Given the description of an element on the screen output the (x, y) to click on. 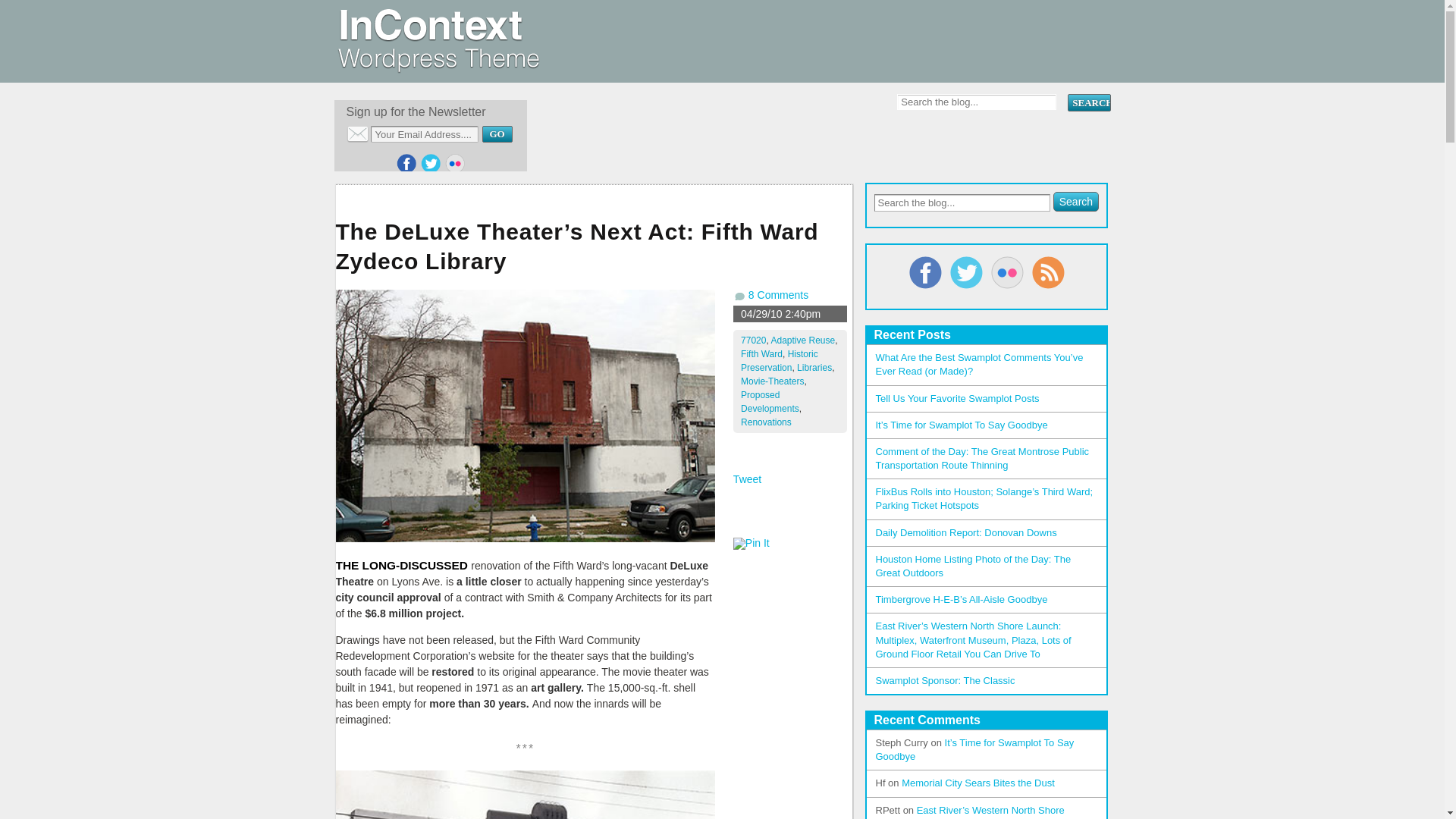
Libraries (813, 367)
Search (1074, 201)
Fifth Ward (762, 353)
77020 (753, 339)
8 Comments (778, 295)
Swamplot (437, 67)
See us on Flickr (454, 163)
Follow us on Twitter (430, 163)
GO (496, 134)
